Given the description of an element on the screen output the (x, y) to click on. 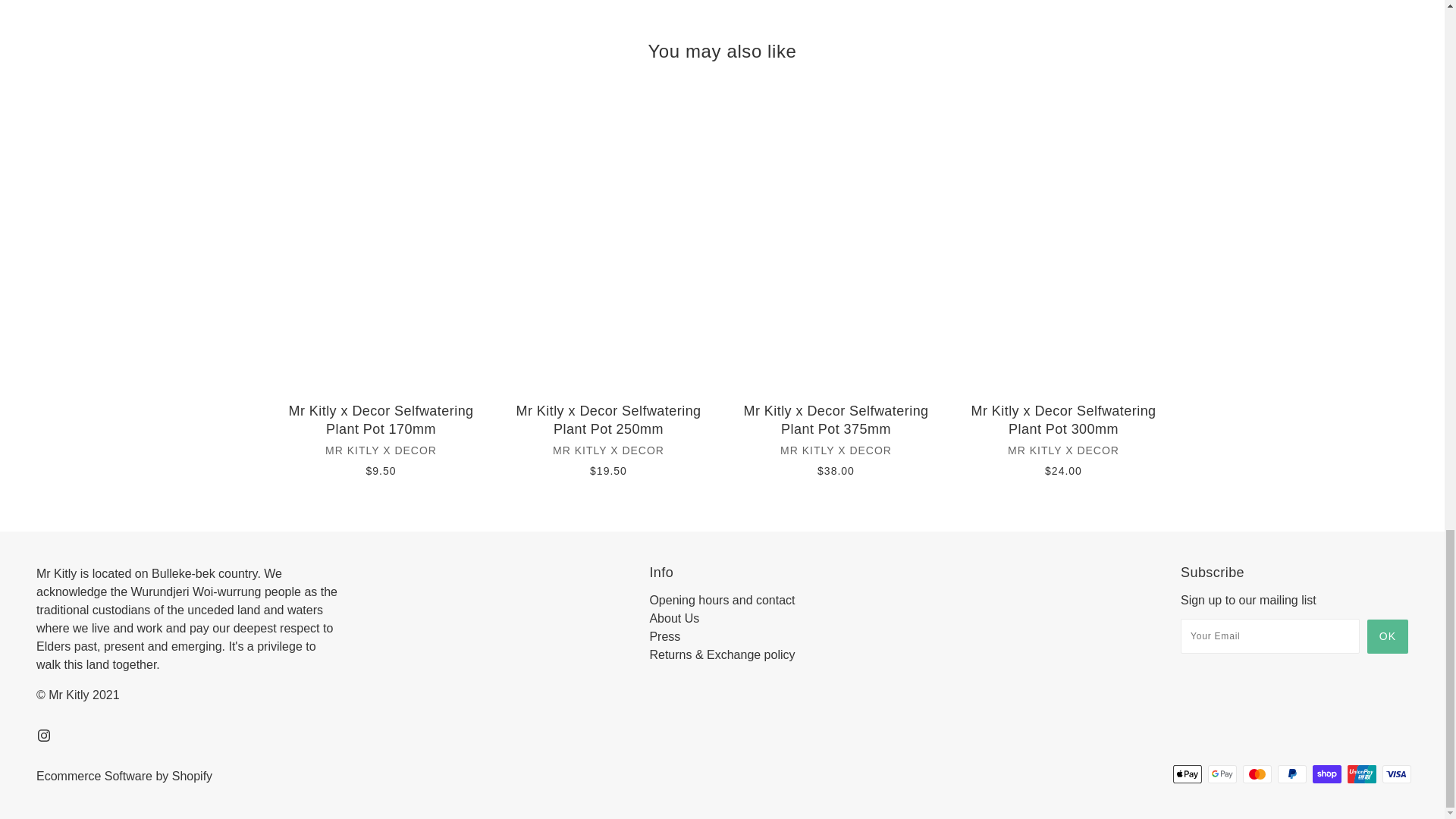
Union Pay (1361, 773)
Apple Pay (1187, 773)
PayPal (1292, 773)
Google Pay (1222, 773)
Ok (1387, 636)
Opening hours and contact (721, 599)
About Us (673, 617)
Visa (1395, 773)
Press (664, 635)
Mastercard (1257, 773)
Shop Pay (1326, 773)
